Given the description of an element on the screen output the (x, y) to click on. 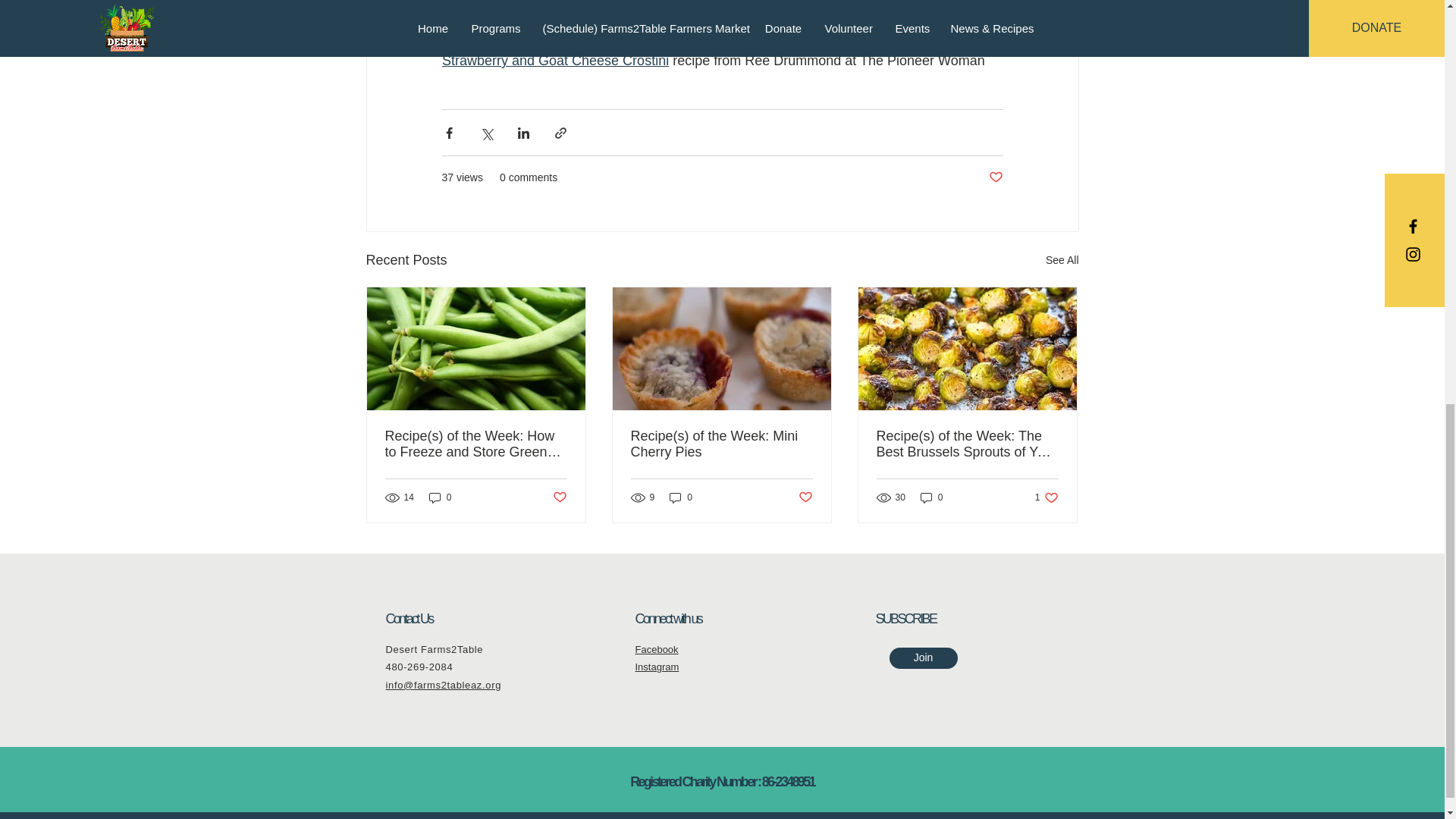
Post not marked as liked (995, 177)
See All (1061, 260)
0 (440, 496)
0 (681, 496)
Post not marked as liked (558, 497)
0 (931, 496)
Strawberry and Goat Cheese Crostini (554, 60)
Post not marked as liked (804, 497)
